Given the description of an element on the screen output the (x, y) to click on. 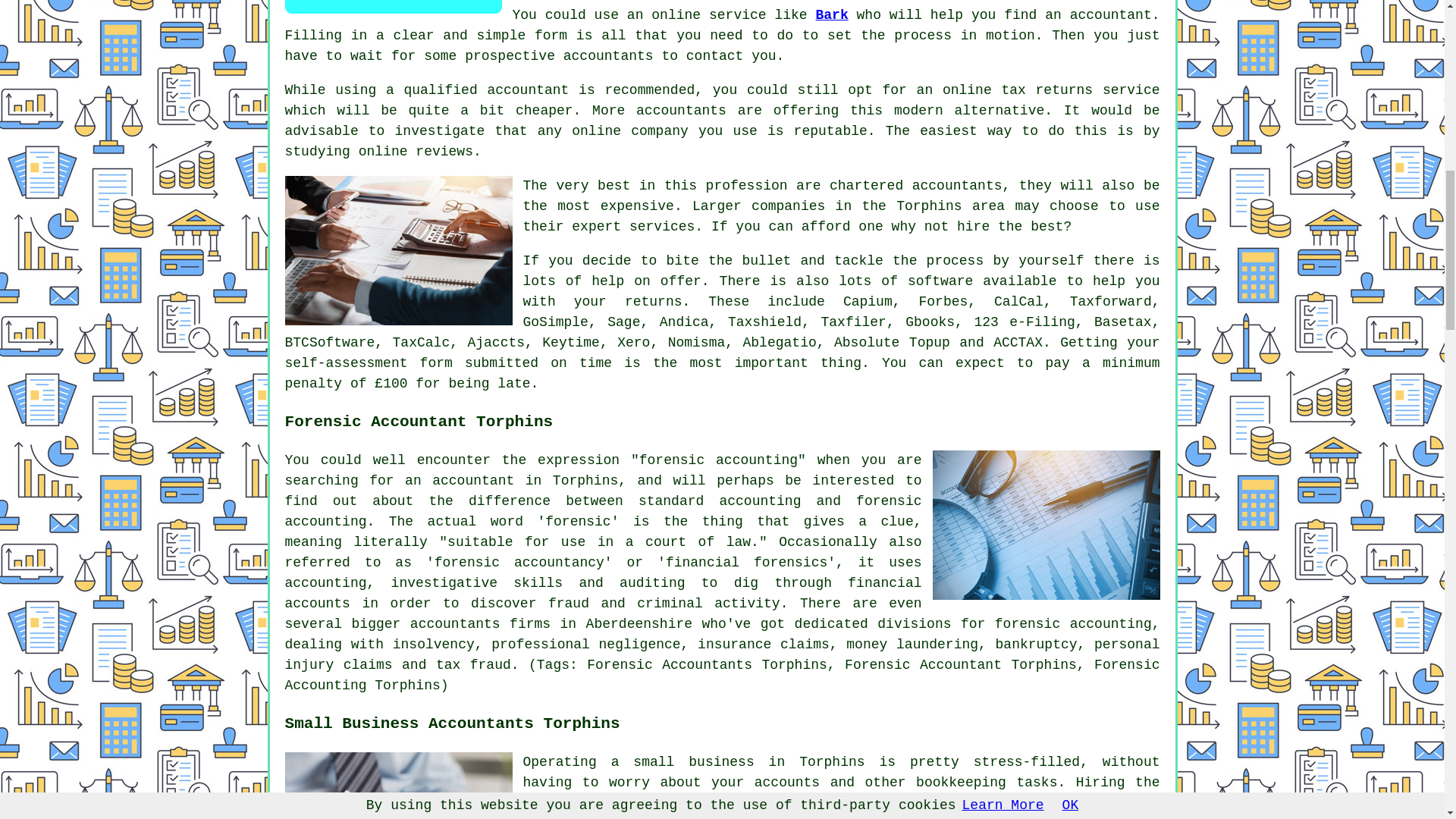
Small Business Accountant Torphins Aberdeenshire (398, 785)
Forensic Accounting Torphins UK (1046, 524)
Accountants in Torphins (398, 250)
